Given the description of an element on the screen output the (x, y) to click on. 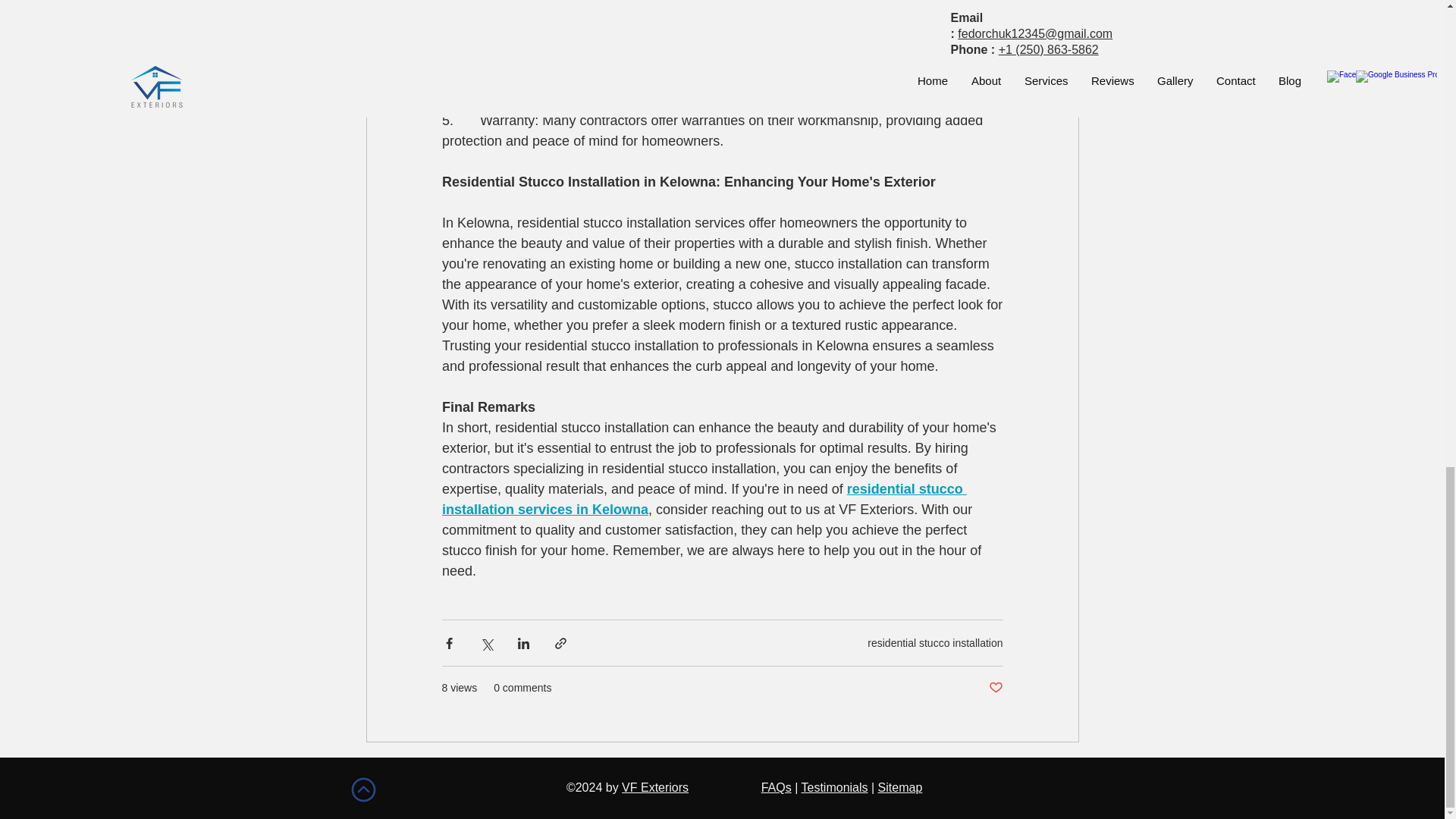
Post not marked as liked (995, 688)
Sitemap (900, 787)
FAQs (776, 787)
residential stucco installation (935, 643)
VF Exteriors (654, 787)
residential stucco installation services in Kelowna (703, 498)
Testimonials (833, 787)
